Given the description of an element on the screen output the (x, y) to click on. 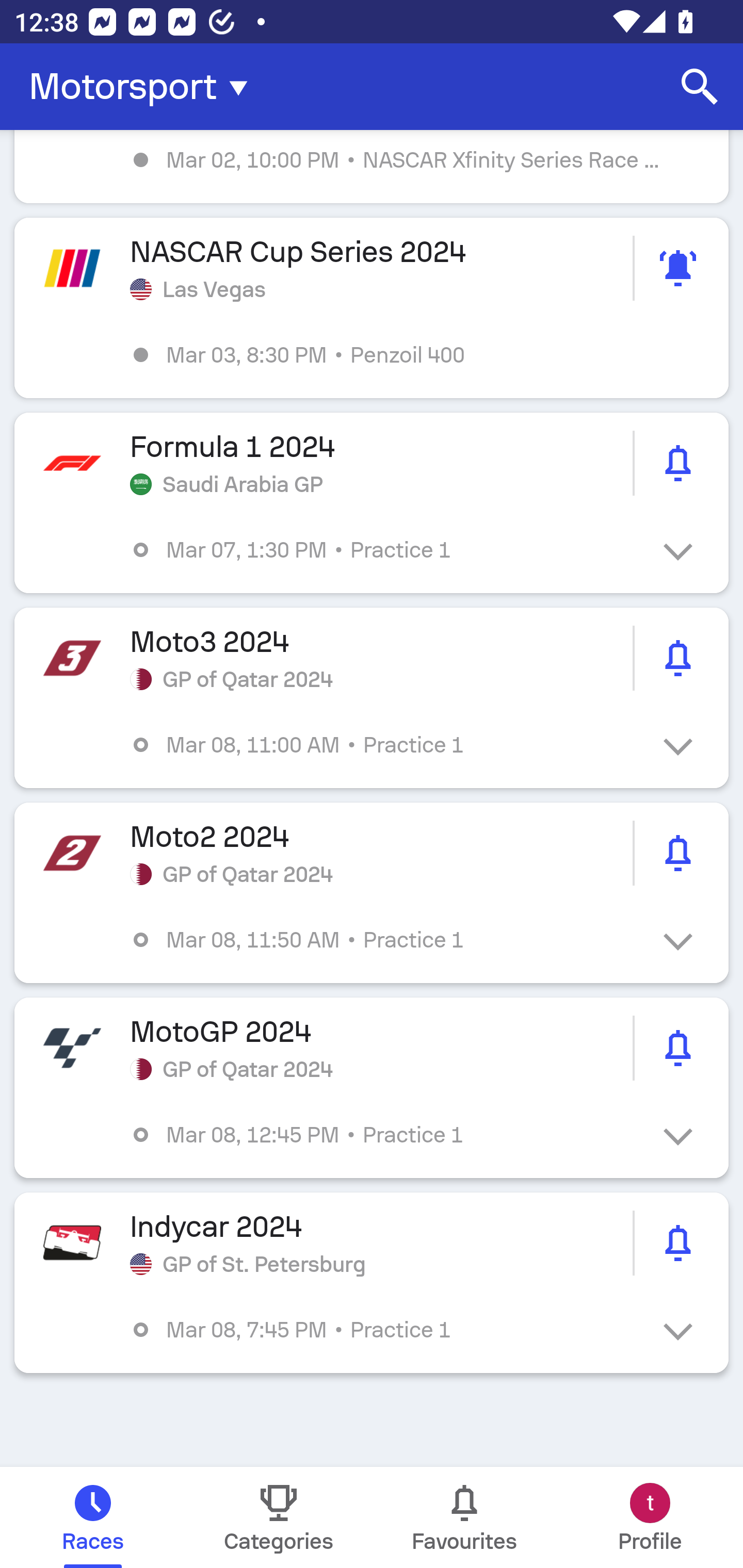
Motorsport (144, 86)
Search (699, 86)
Mar 07, 1:30 PM • Practice 1 (385, 549)
Mar 08, 11:00 AM • Practice 1 (385, 744)
Mar 08, 11:50 AM • Practice 1 (385, 939)
Mar 08, 12:45 PM • Practice 1 (385, 1134)
Mar 08, 7:45 PM • Practice 1 (385, 1329)
Categories (278, 1517)
Favourites (464, 1517)
Profile (650, 1517)
